Given the description of an element on the screen output the (x, y) to click on. 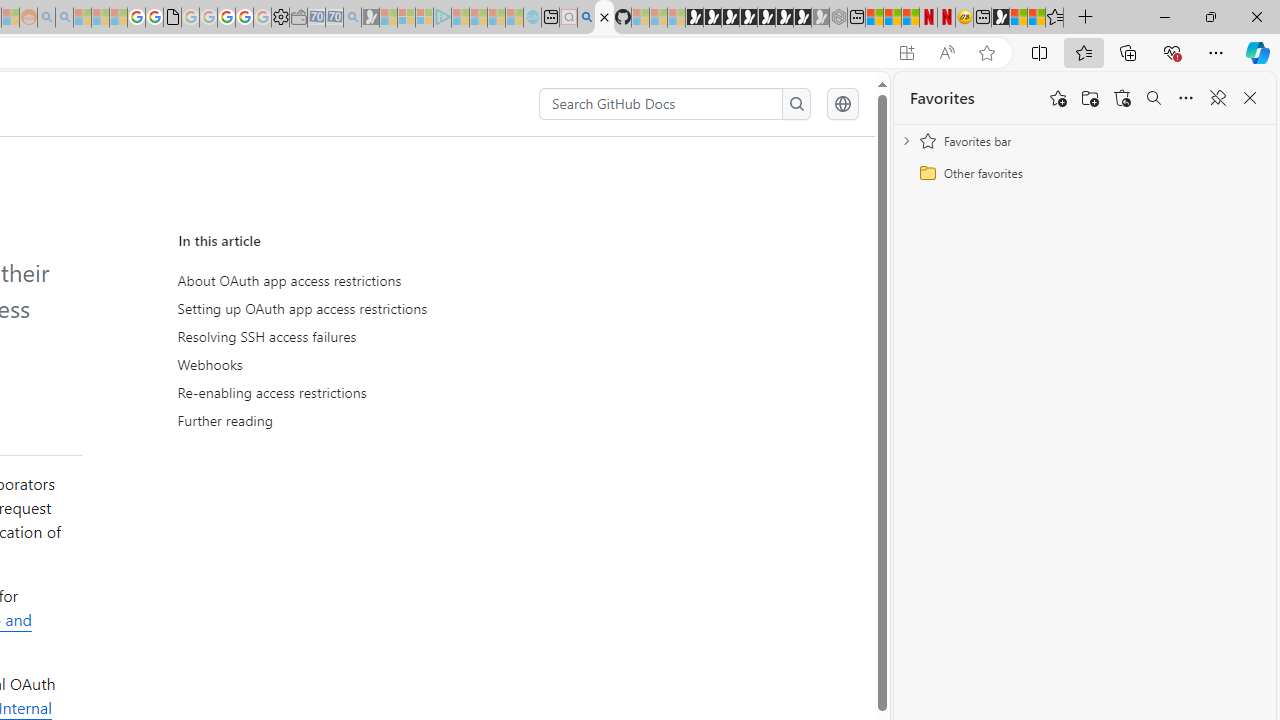
Search GitHub Docs (661, 103)
Close favorites (1250, 98)
